Given the description of an element on the screen output the (x, y) to click on. 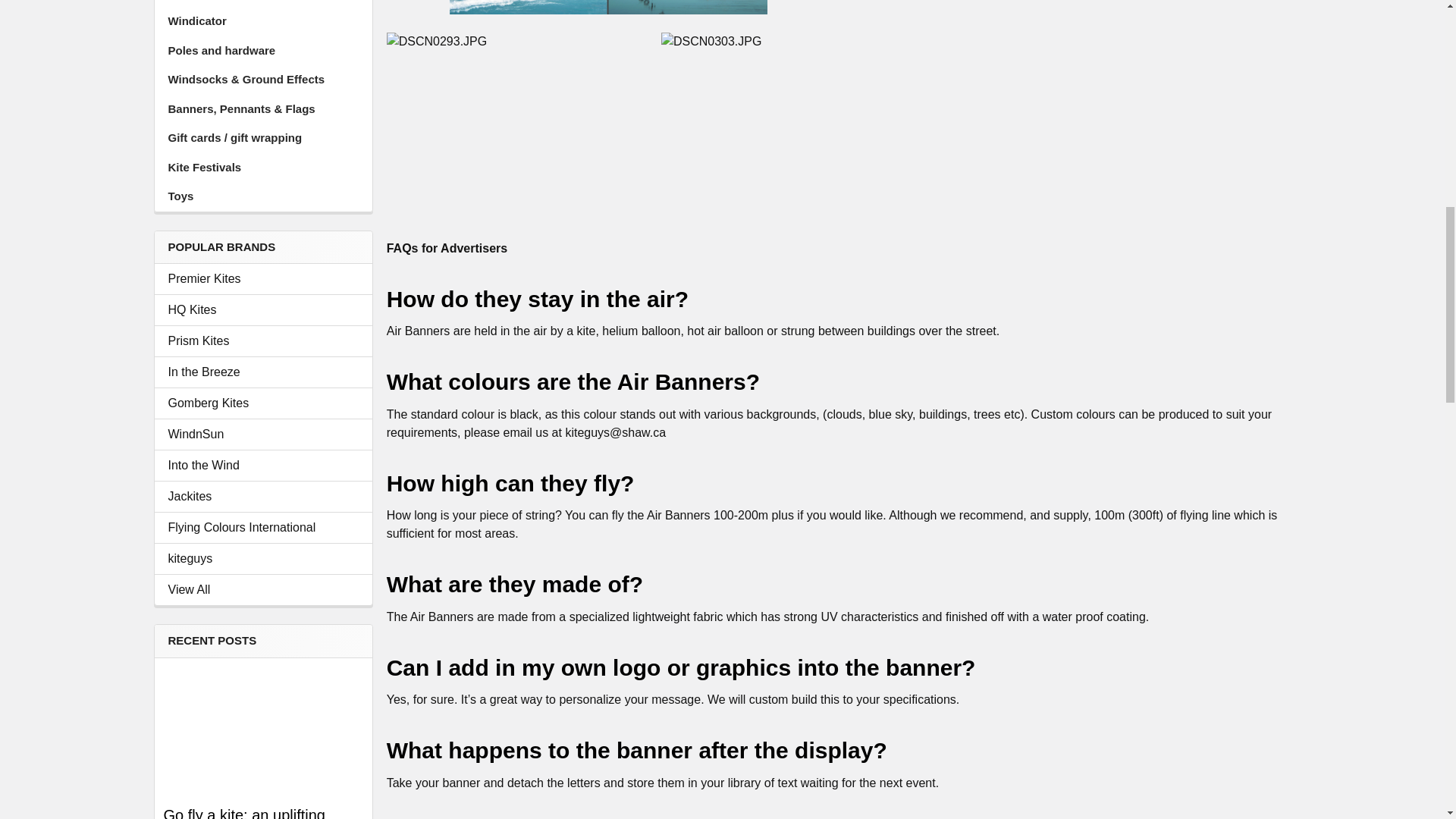
WindnSun (263, 434)
DSCN0293.JPG (500, 117)
Premier Kites (263, 279)
Jackites (263, 496)
Into the Wind (263, 465)
Gomberg Kites (263, 402)
HQ Kites (263, 310)
In the Breeze (263, 372)
DSCN0303.JPG (774, 117)
Prism Kites (263, 341)
